Given the description of an element on the screen output the (x, y) to click on. 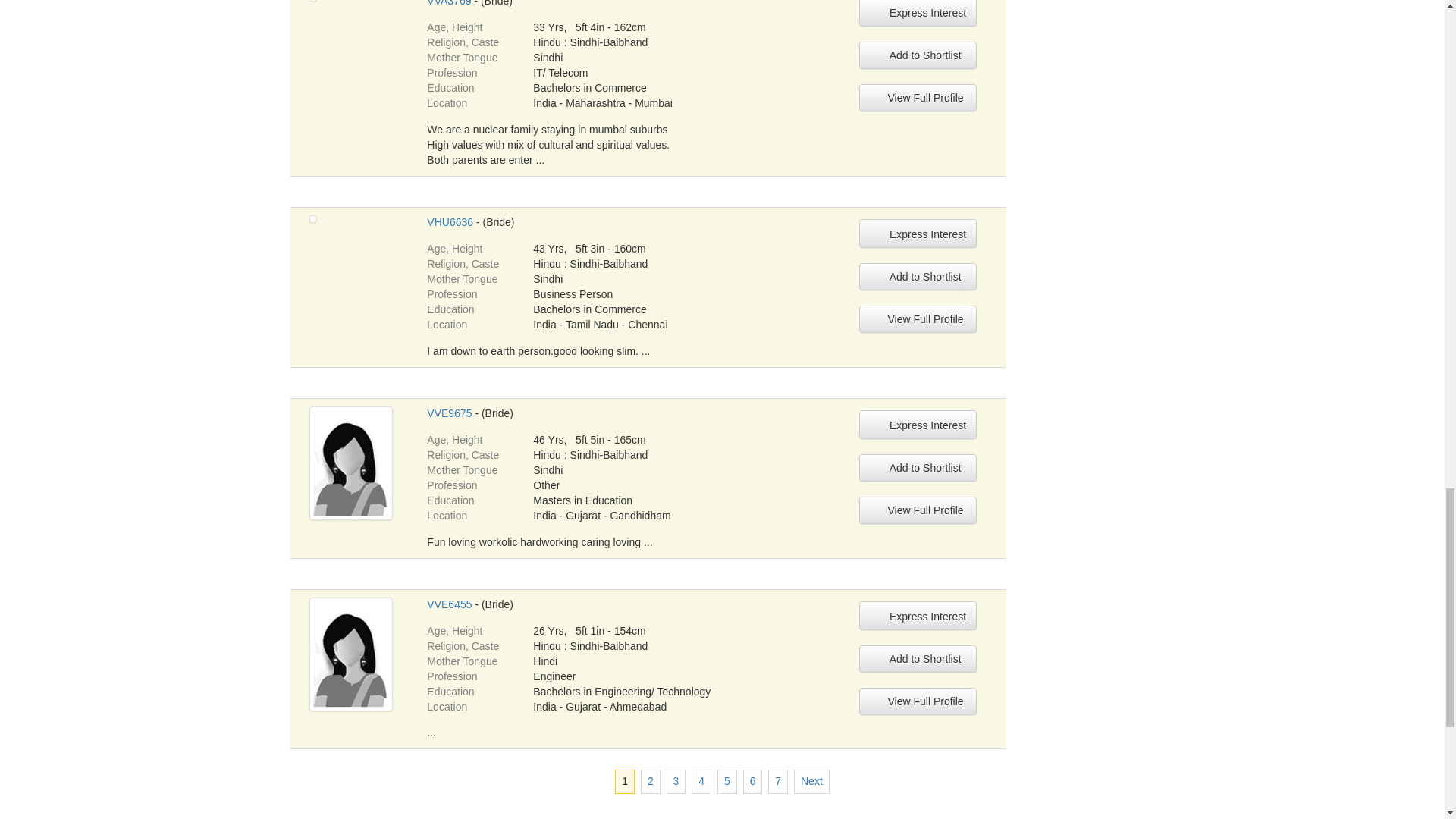
Go to page 7 (777, 781)
Go to page 4 (701, 781)
Go to page 2 (650, 781)
Go to page 5 (726, 781)
Go to page 3 (675, 781)
Go to page 6 (752, 781)
